Given the description of an element on the screen output the (x, y) to click on. 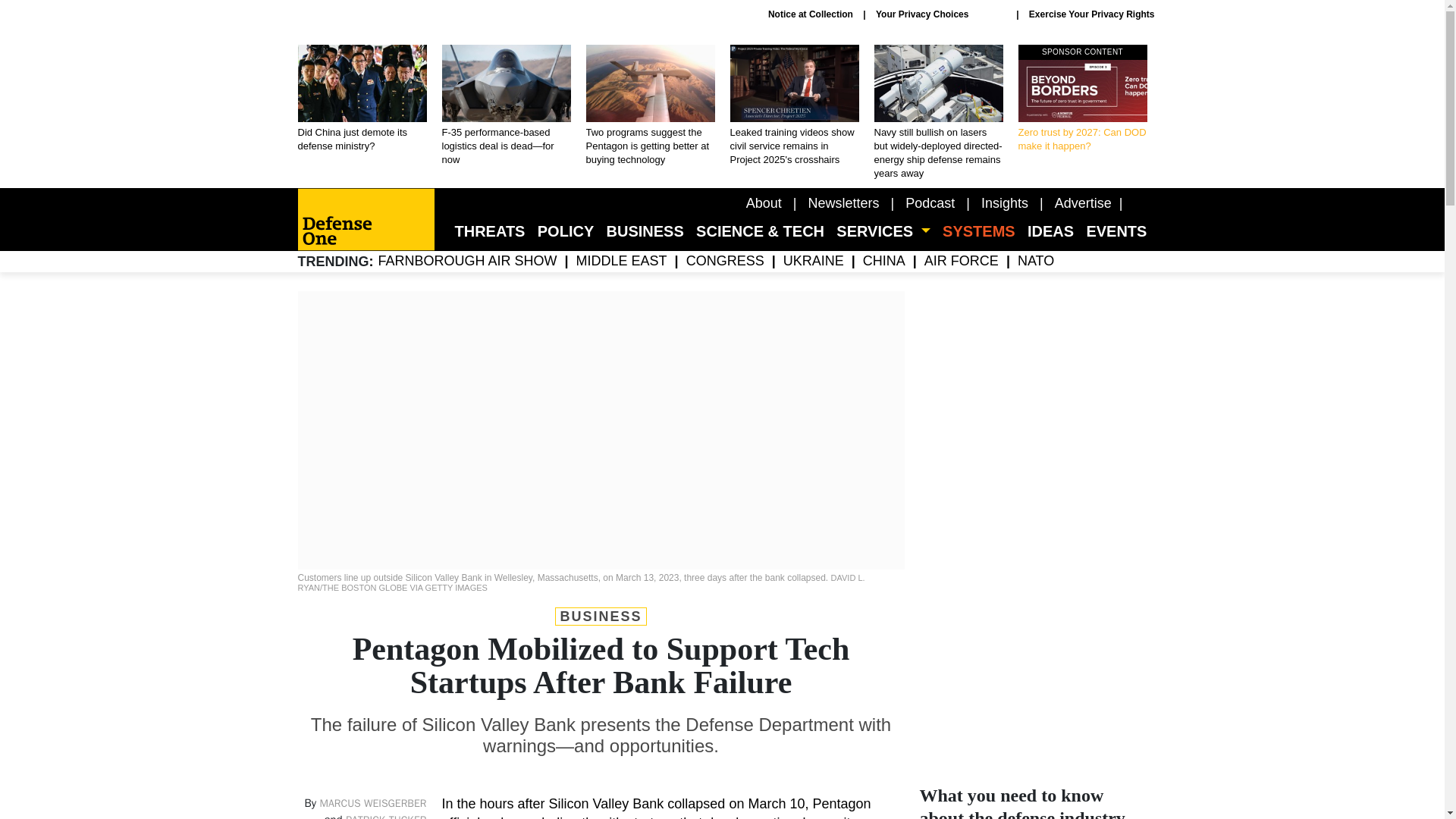
Insights (1004, 202)
Podcast (1082, 99)
Newsletters (1082, 99)
Advertise (930, 202)
About (843, 202)
Notice at Collection (1083, 202)
